Given the description of an element on the screen output the (x, y) to click on. 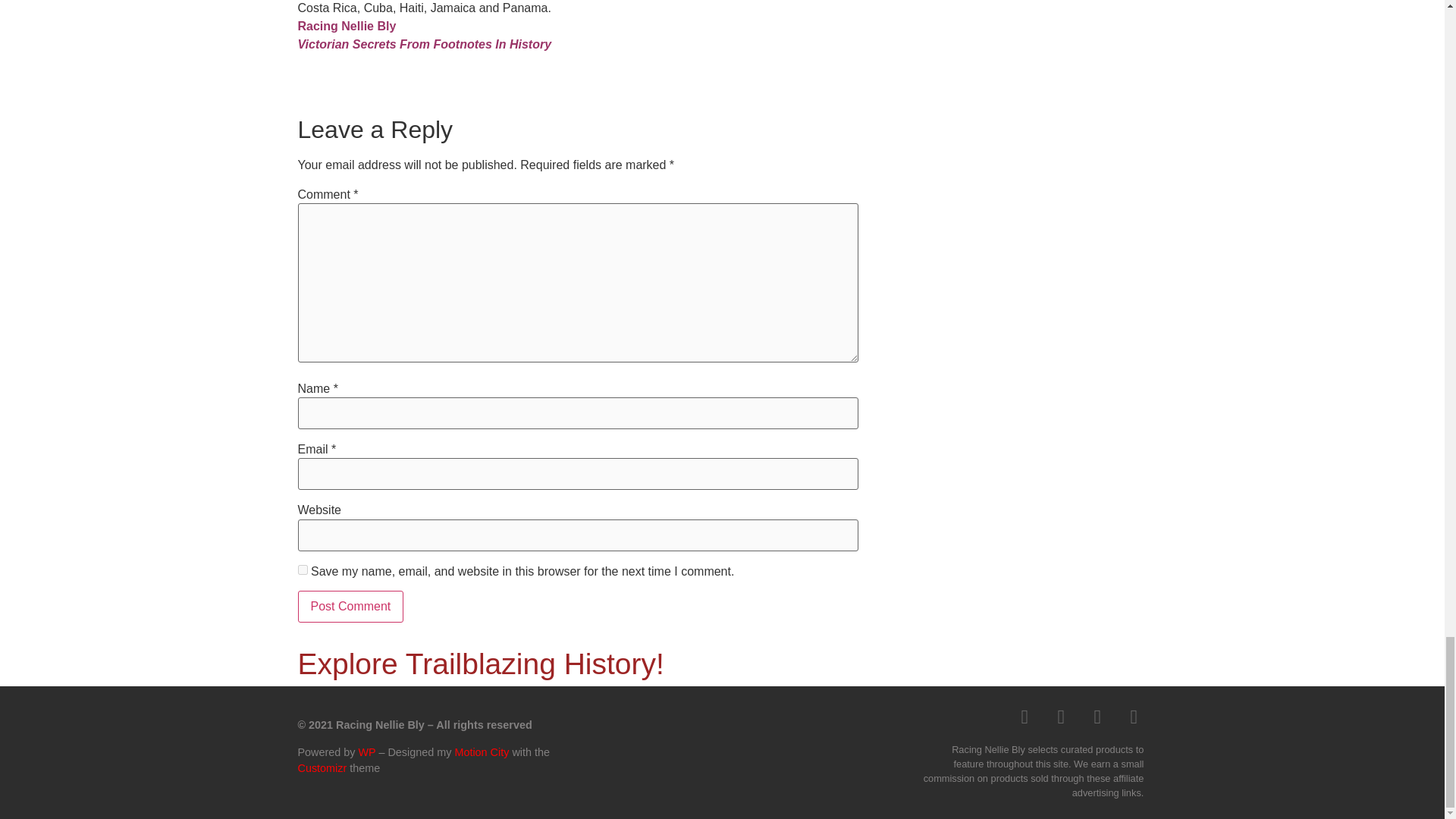
Post Comment (350, 606)
yes (302, 569)
Post Comment (350, 606)
